Given the description of an element on the screen output the (x, y) to click on. 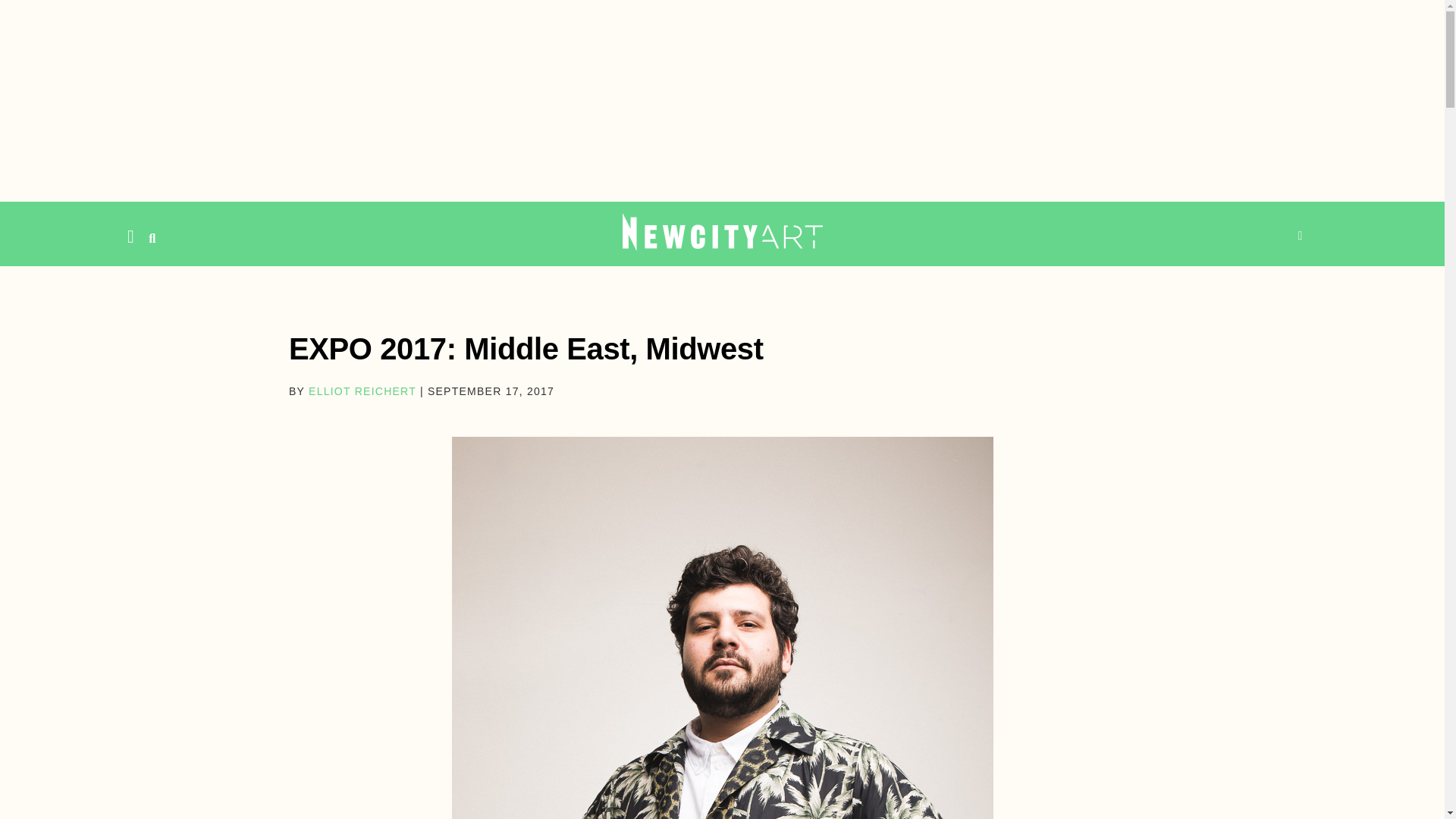
ELLIOT REICHERT (362, 390)
NewcityArt (721, 231)
